Given the description of an element on the screen output the (x, y) to click on. 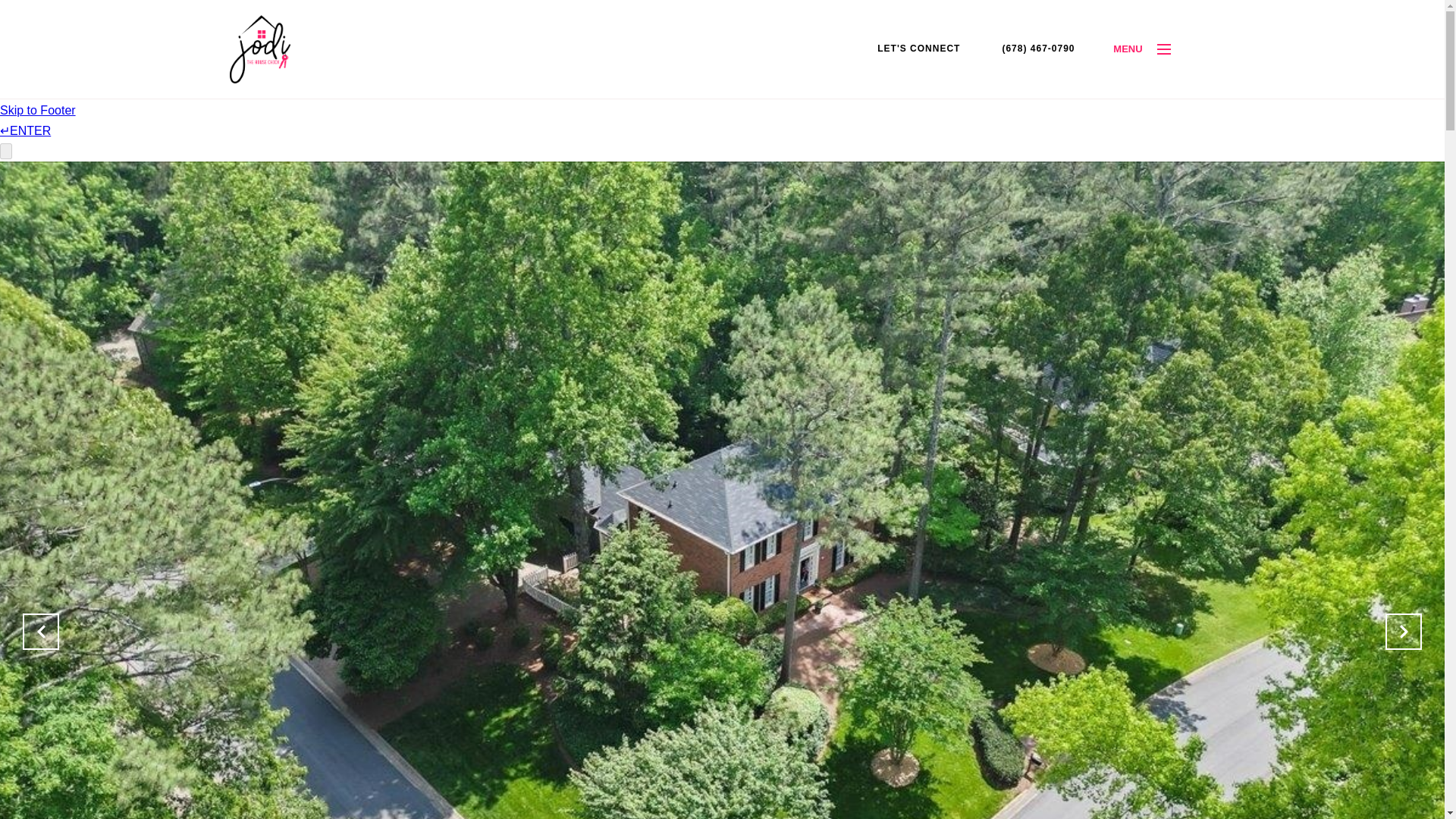
LET'S CONNECT (918, 48)
